Given the description of an element on the screen output the (x, y) to click on. 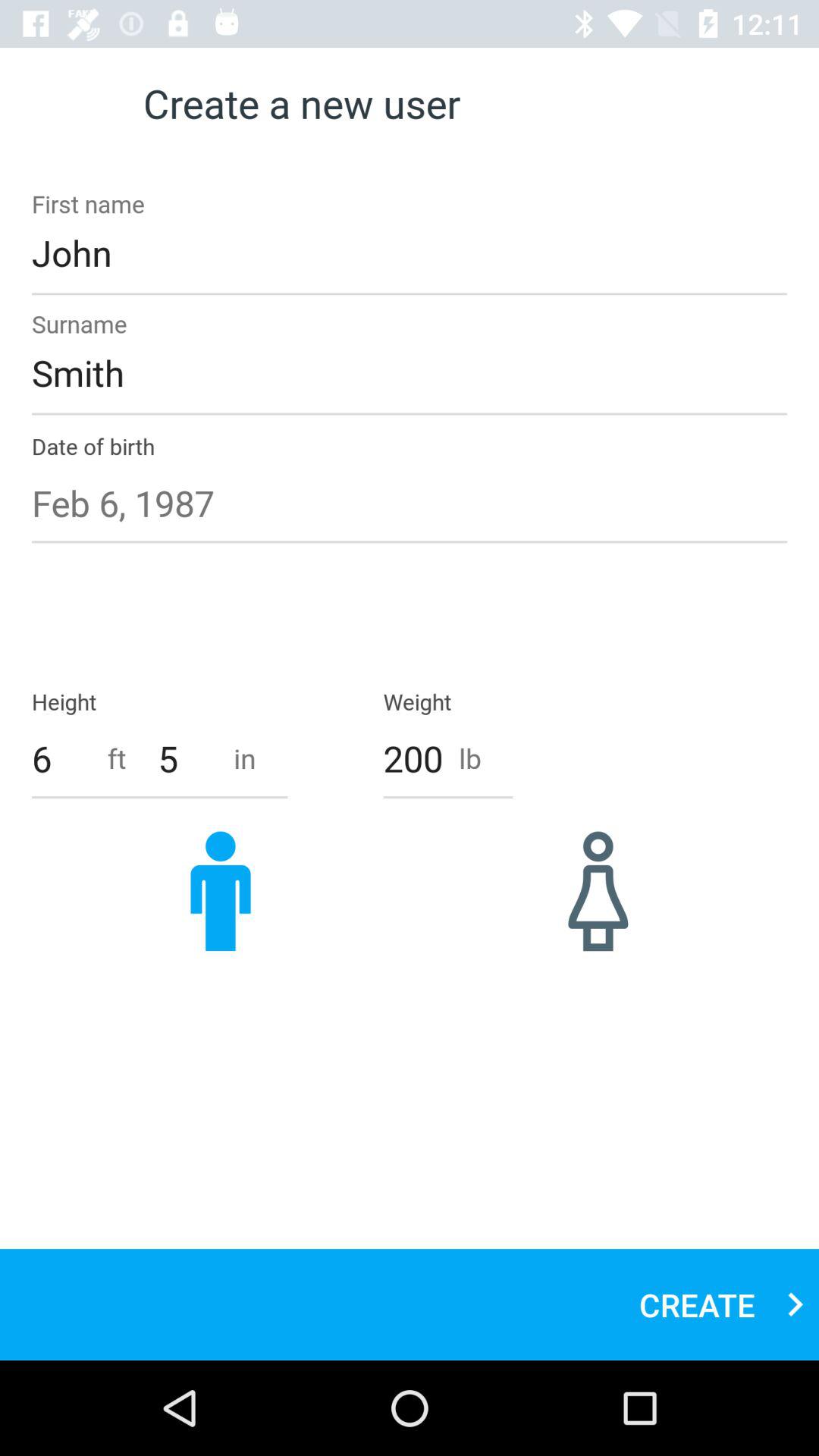
turn off item below 200 item (598, 890)
